Given the description of an element on the screen output the (x, y) to click on. 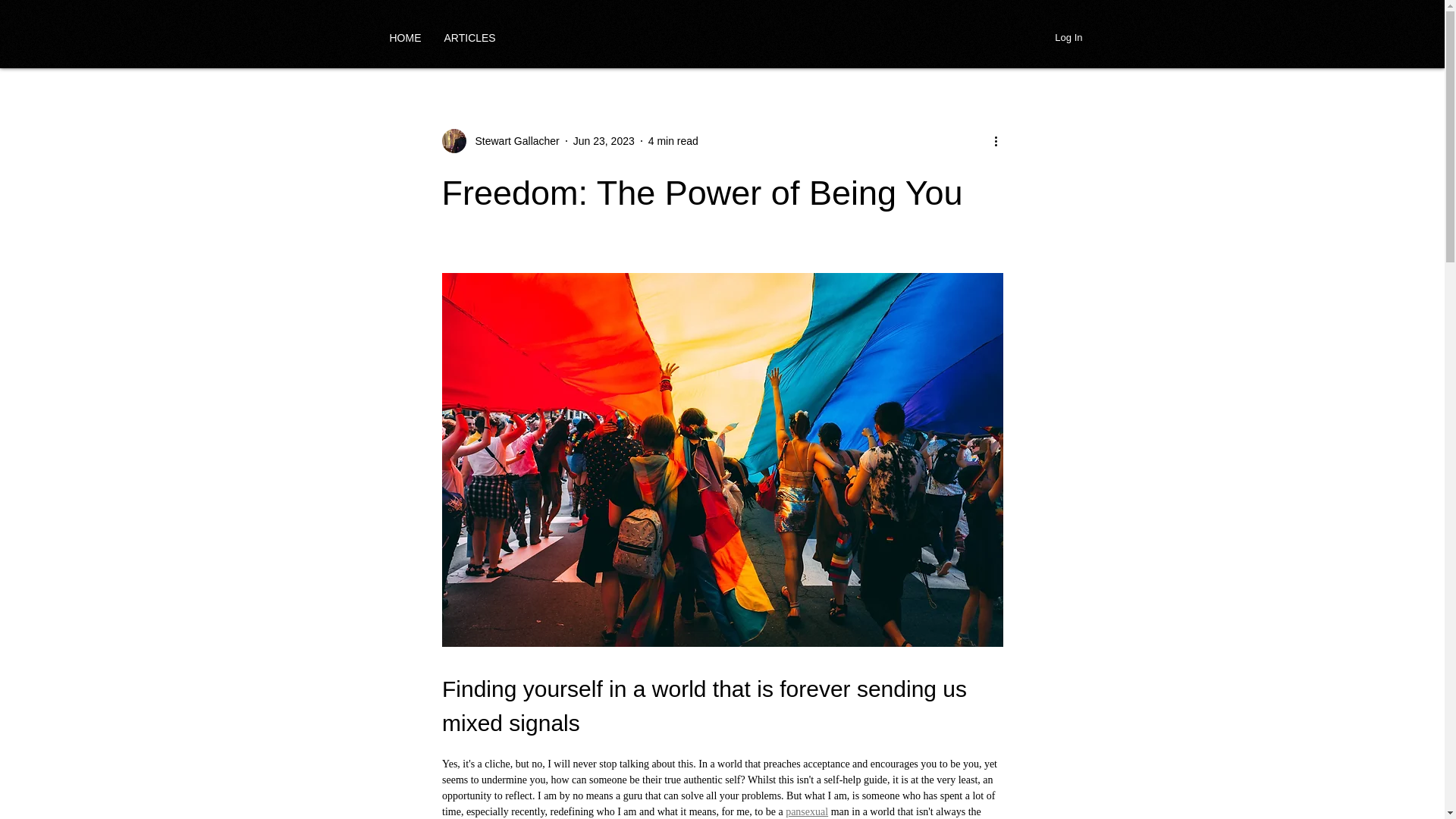
Jun 23, 2023 (603, 141)
Stewart Gallacher (500, 140)
HOME (404, 37)
Log In (1068, 37)
ARTICLES (468, 37)
4 min read (672, 141)
pansexual (807, 811)
Stewart Gallacher (512, 141)
